Given the description of an element on the screen output the (x, y) to click on. 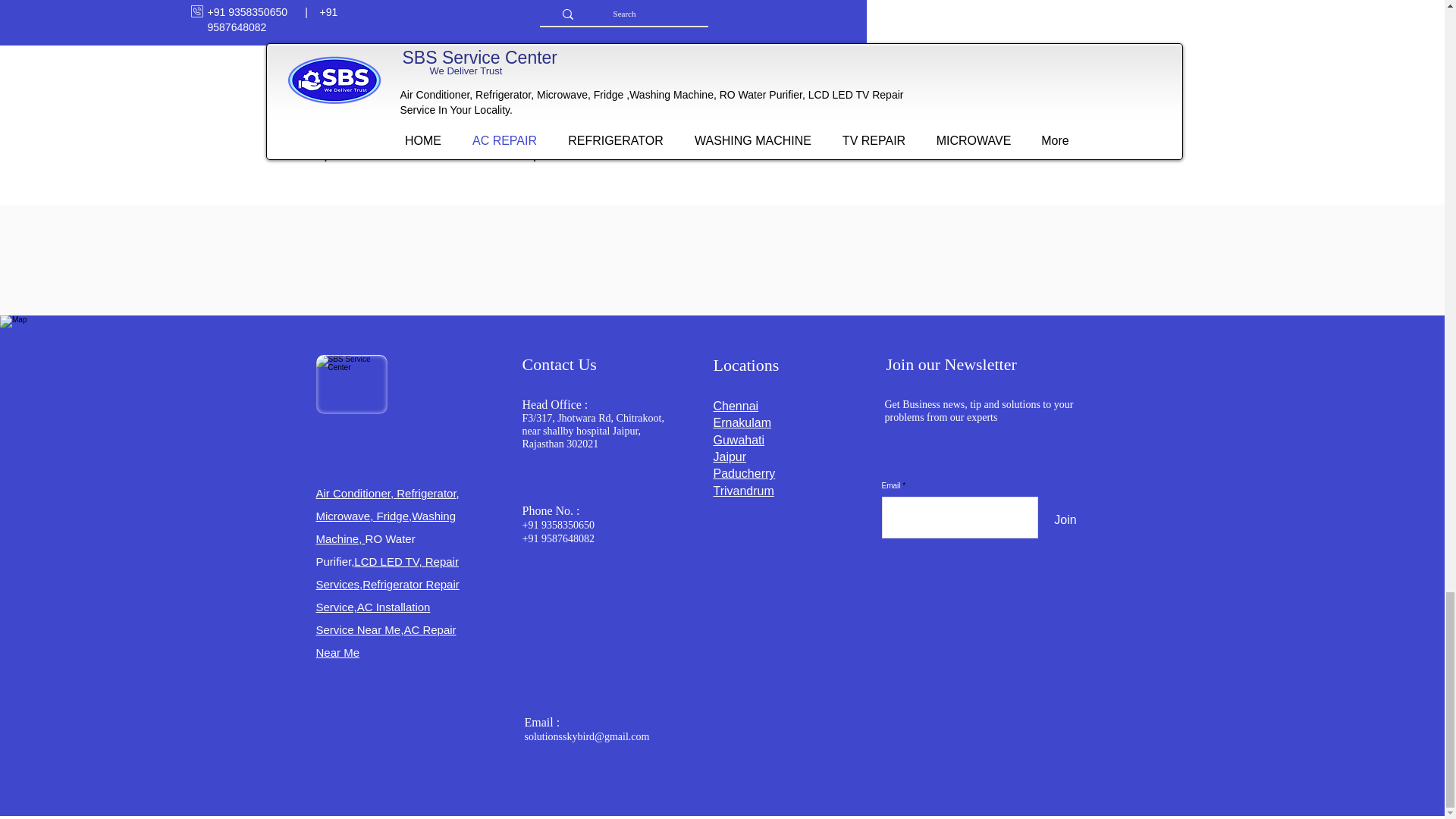
WhatsApp Image 2021-11-29 at 10.58.50 AM.jpeg (351, 384)
